Given the description of an element on the screen output the (x, y) to click on. 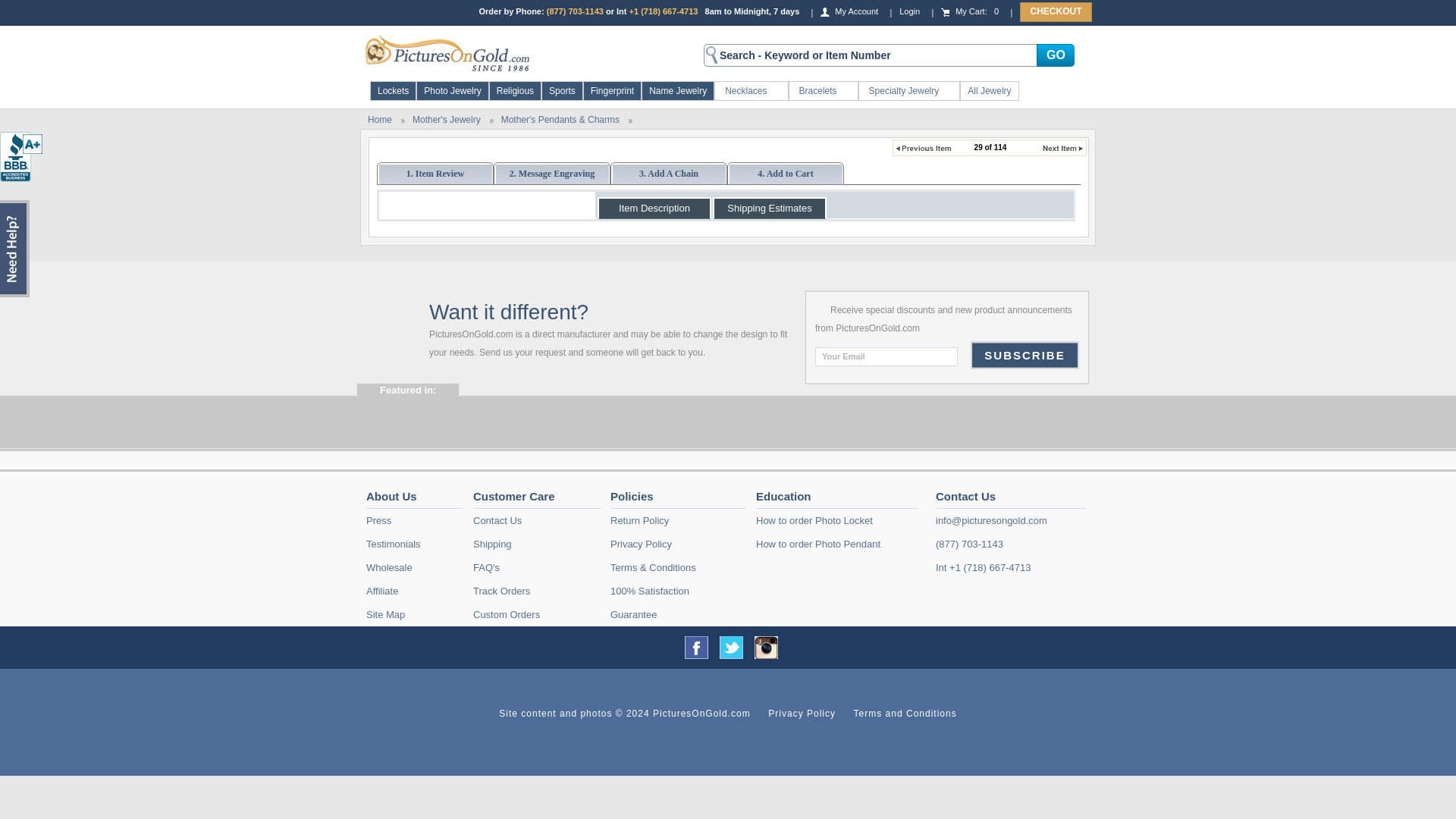
Lockets (393, 90)
Login (909, 10)
Your Email (886, 356)
My Cart:   0 (969, 10)
My Account (849, 10)
Religious (515, 90)
Photo Jewelry (451, 90)
GO (1055, 55)
CHECKOUT (1056, 12)
Fingerprint (612, 90)
Search - Keyword or Item Number (869, 55)
Sports (561, 90)
Necklaces (751, 90)
Name Jewelry (677, 90)
Bracelets (823, 90)
